Given the description of an element on the screen output the (x, y) to click on. 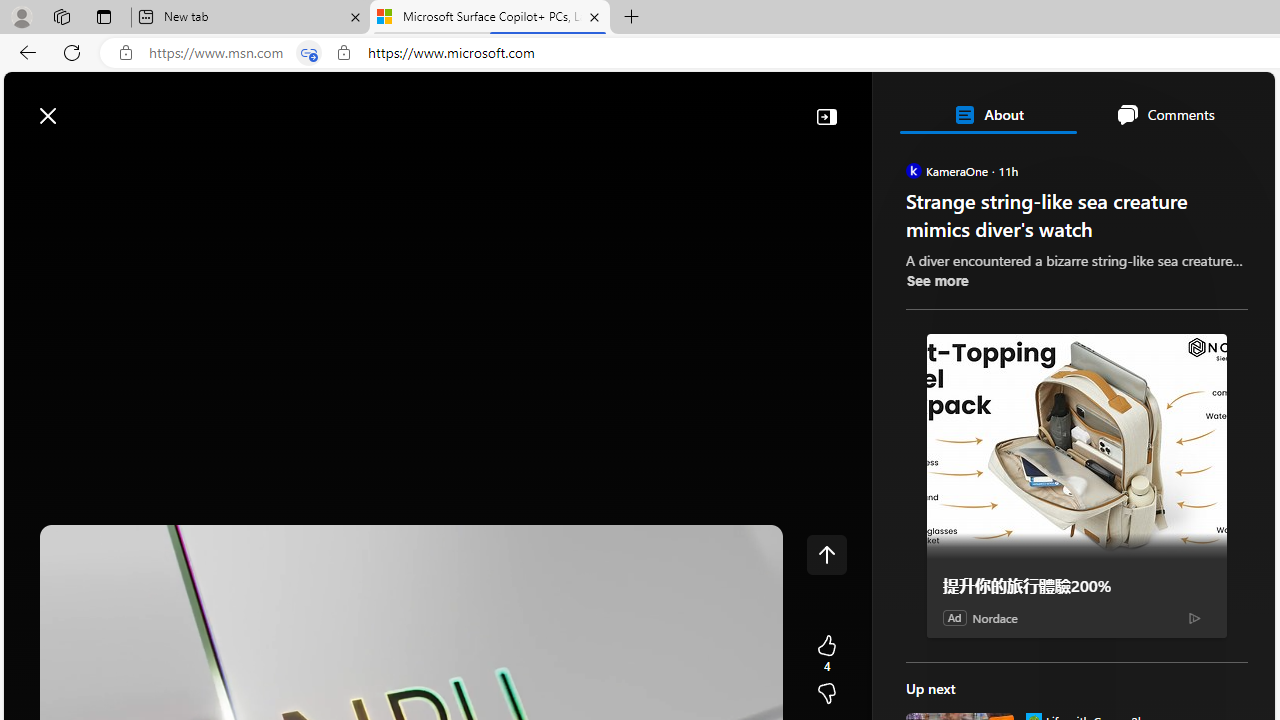
Personalize (1195, 162)
Skip to footer (82, 105)
Enter your search term (644, 106)
